Given the description of an element on the screen output the (x, y) to click on. 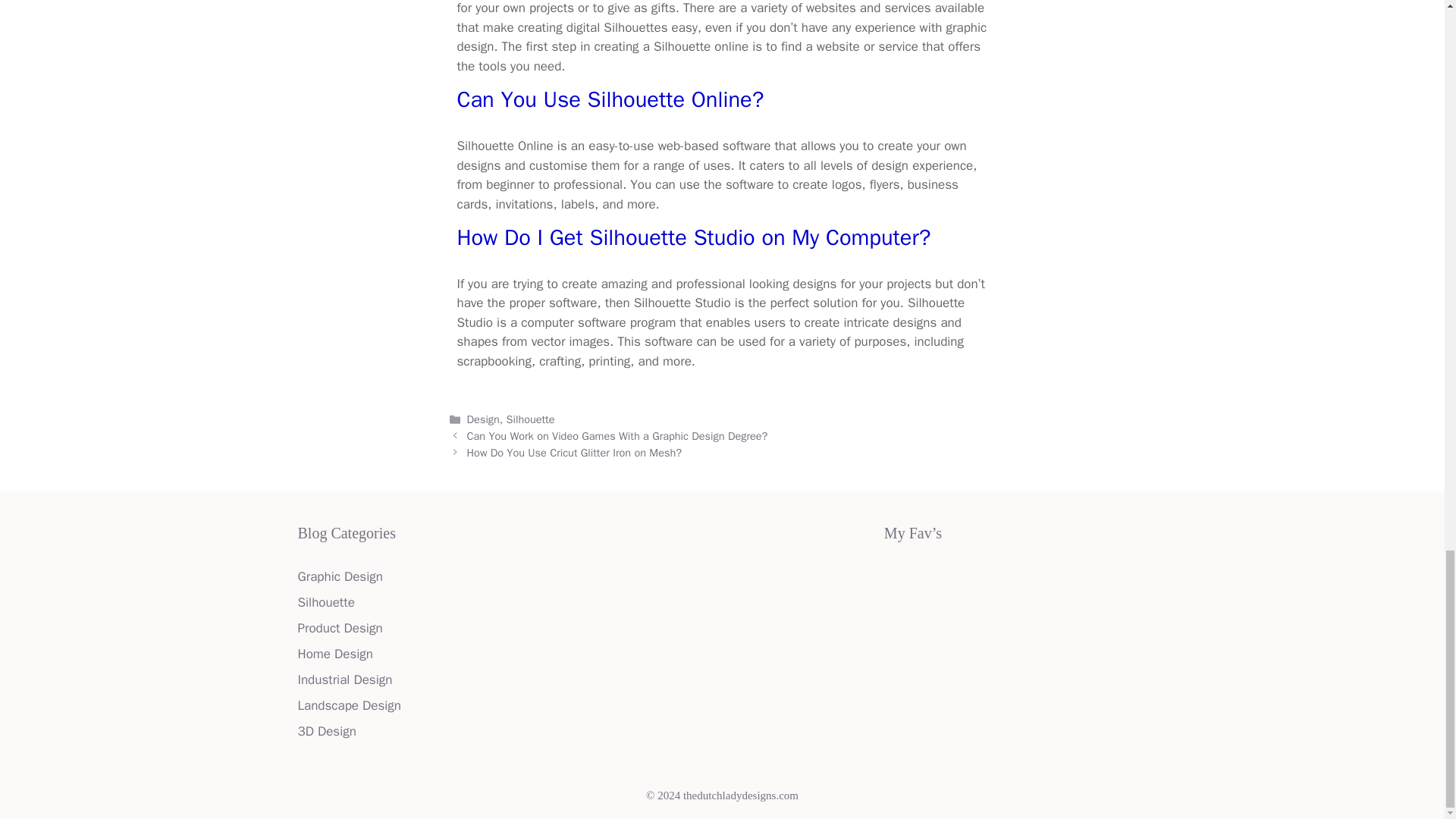
Silhouette (530, 418)
Silhouette (325, 602)
Can You Use Silhouette Online? (609, 99)
How Do You Use Cricut Glitter Iron on Mesh? (574, 452)
Can You Work on Video Games With a Graphic Design Degree? (617, 436)
Graphic Design (339, 576)
Product Design (339, 627)
How Do I Get Silhouette Studio on My Computer? (693, 237)
Design (483, 418)
Home Design (334, 653)
